Given the description of an element on the screen output the (x, y) to click on. 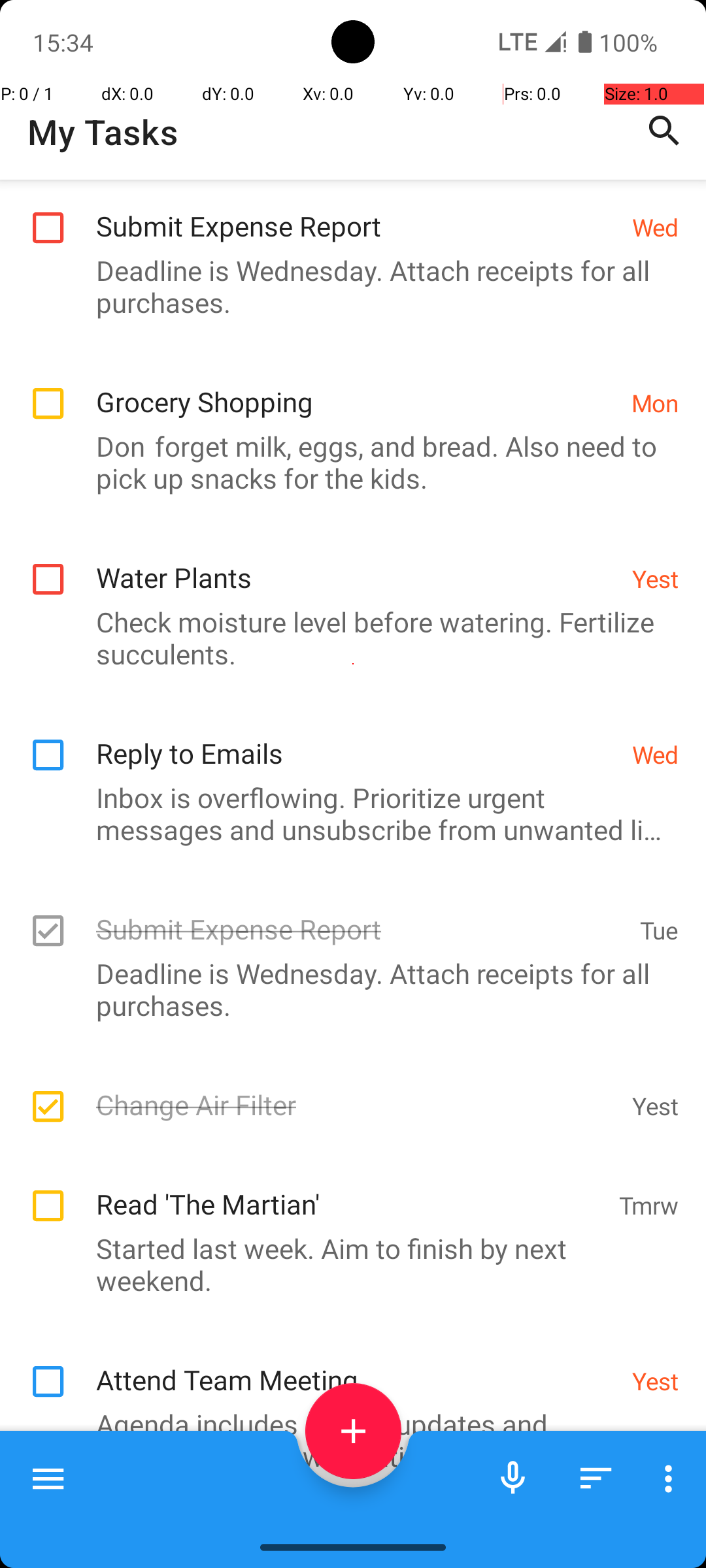
Deadline is Wednesday. Attach receipts for all purchases. Element type: android.widget.TextView (346, 285)
Don	 forget milk, eggs, and bread. Also need to pick up snacks for the kids. Element type: android.widget.TextView (346, 461)
Inbox is overflowing. Prioritize urgent messages and unsubscribe from unwanted lists. Element type: android.widget.TextView (346, 813)
